Given the description of an element on the screen output the (x, y) to click on. 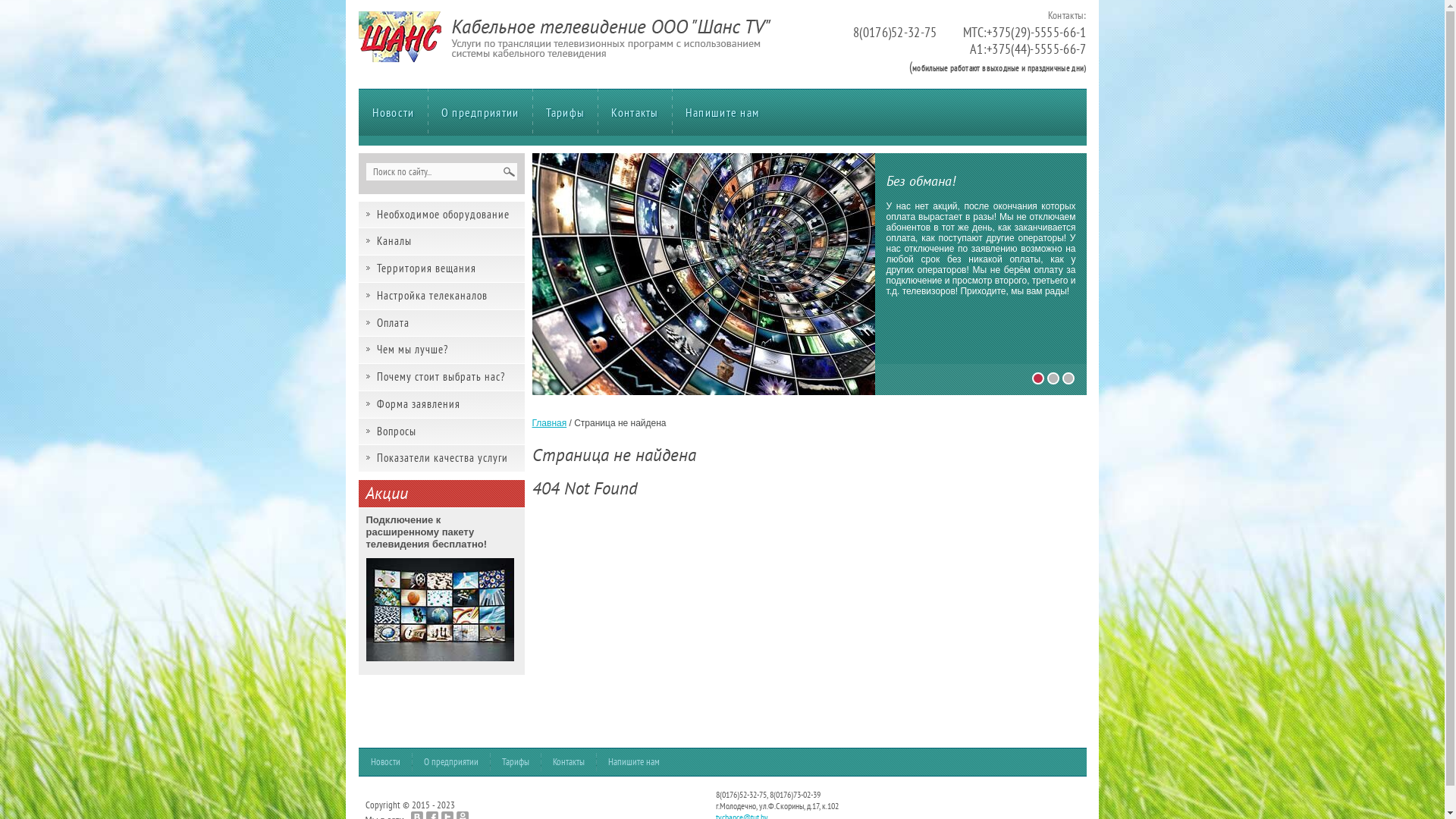
1 Element type: text (1038, 378)
2 Element type: text (1053, 378)
3 Element type: text (1068, 378)
